Given the description of an element on the screen output the (x, y) to click on. 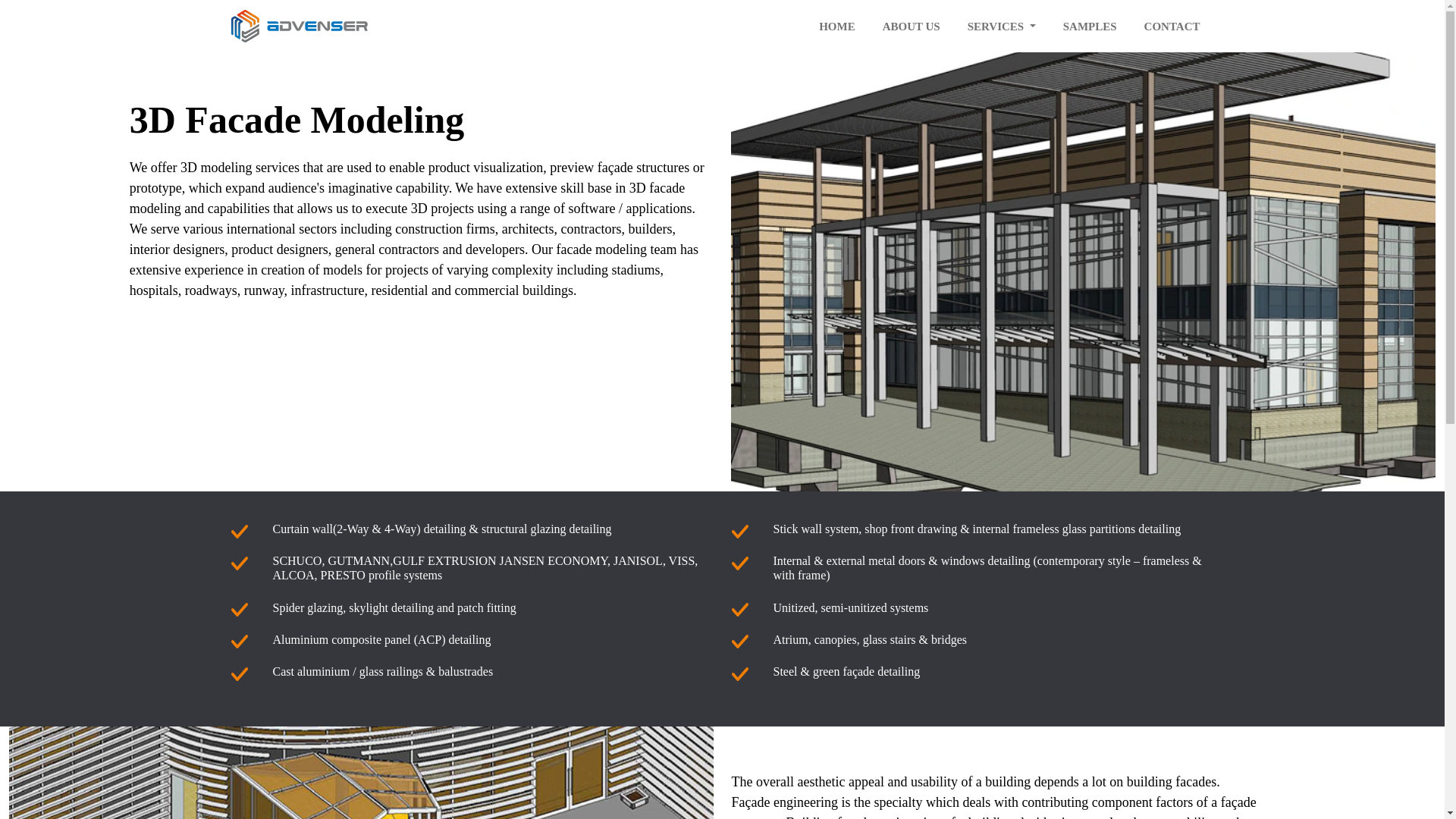
HOME (836, 26)
SAMPLES (1089, 26)
CONTACT (1172, 26)
ABOUT US (911, 26)
SERVICES (1001, 26)
